Given the description of an element on the screen output the (x, y) to click on. 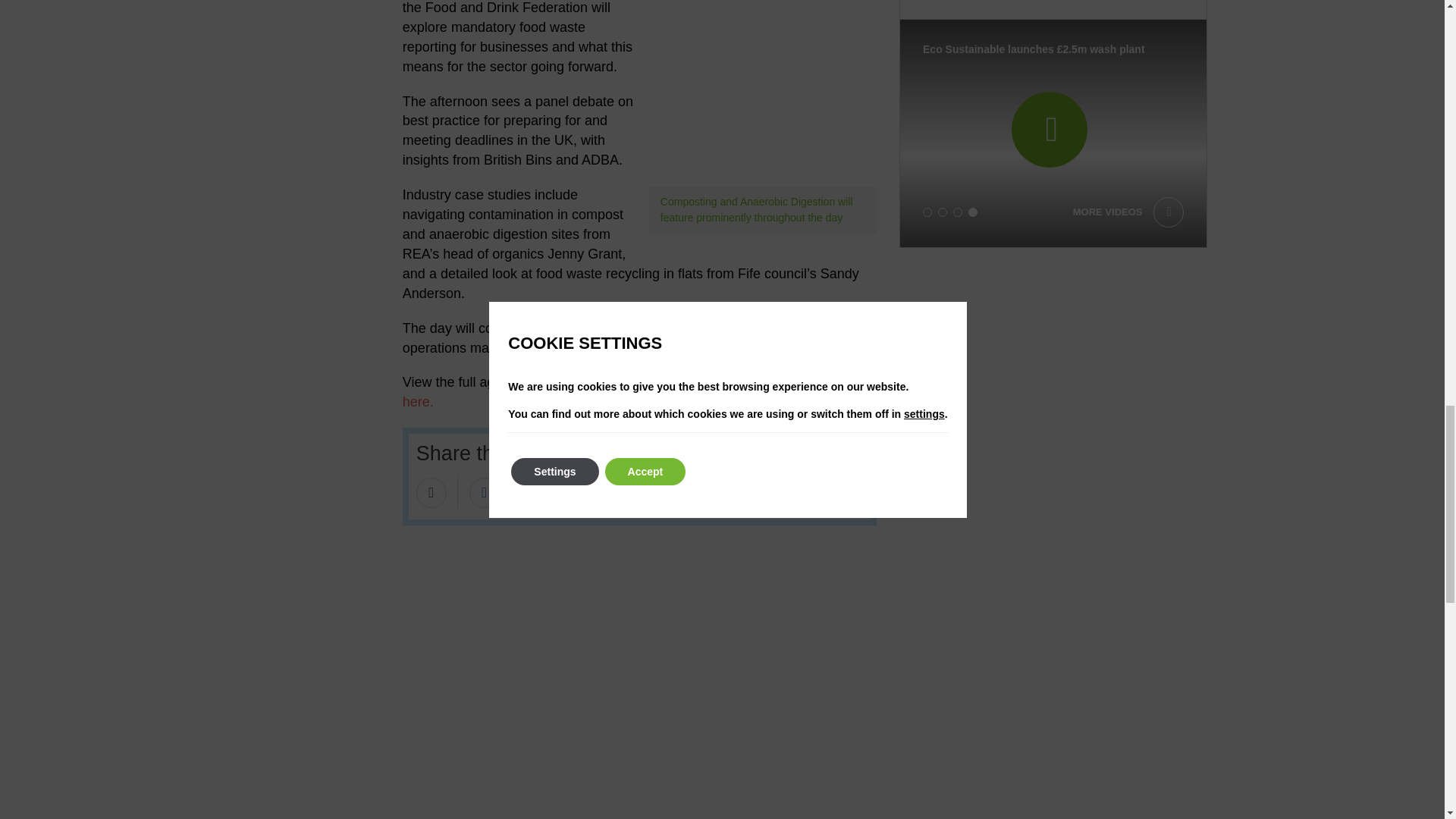
Facebook (483, 492)
Twitter (521, 492)
Email (431, 492)
Print article (613, 492)
LinkedIn (559, 492)
